Given the description of an element on the screen output the (x, y) to click on. 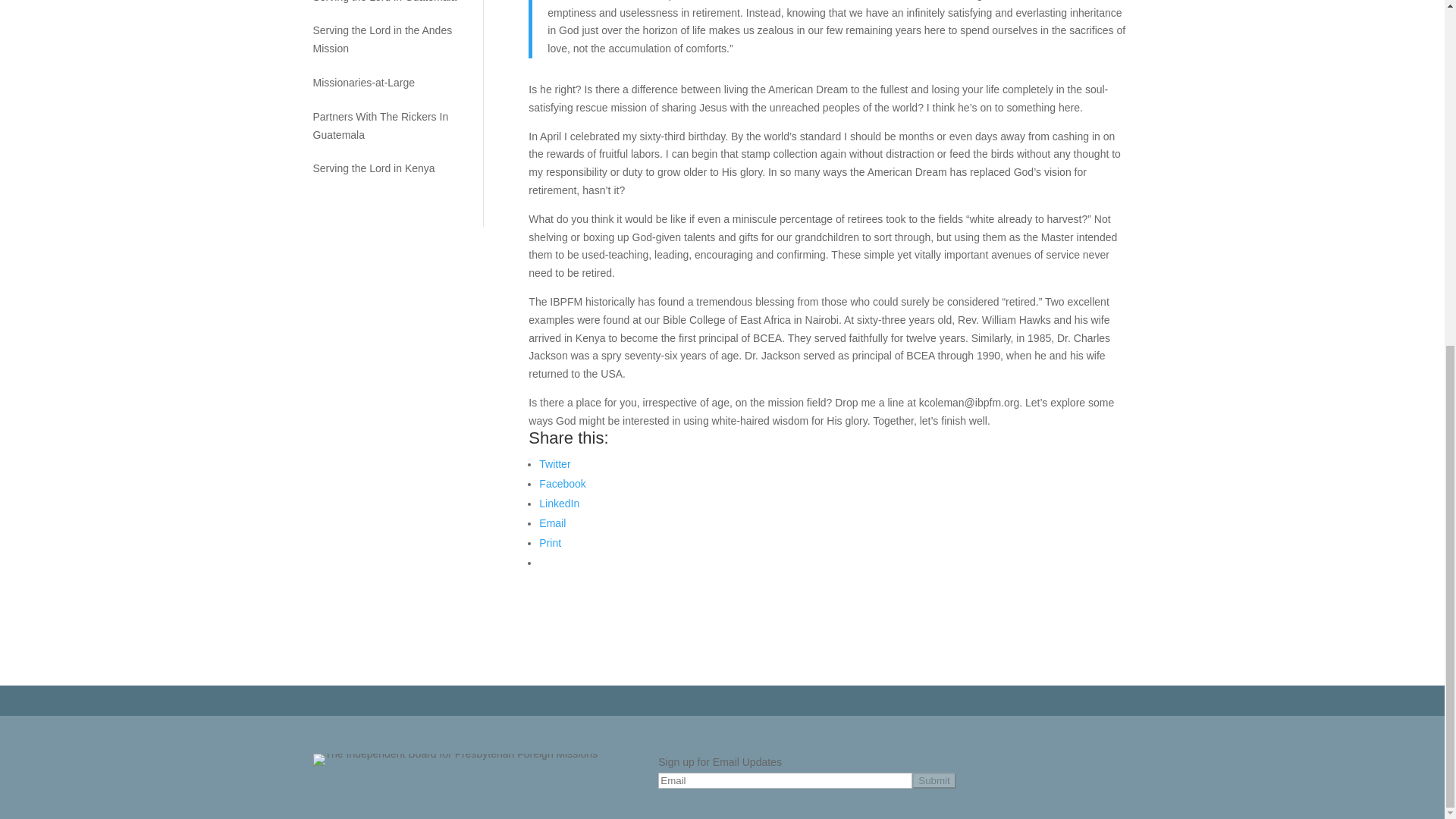
Click to share on LinkedIn (558, 503)
Serving the Lord in Guatemala (386, 3)
Partners With The Rickers In Guatemala (386, 126)
Click to share on Twitter (554, 463)
Print (549, 542)
Serving the Lord in the Andes Mission (386, 40)
Email (552, 522)
Click to share on Facebook (561, 483)
Submit (933, 780)
Click to print (549, 542)
